Given the description of an element on the screen output the (x, y) to click on. 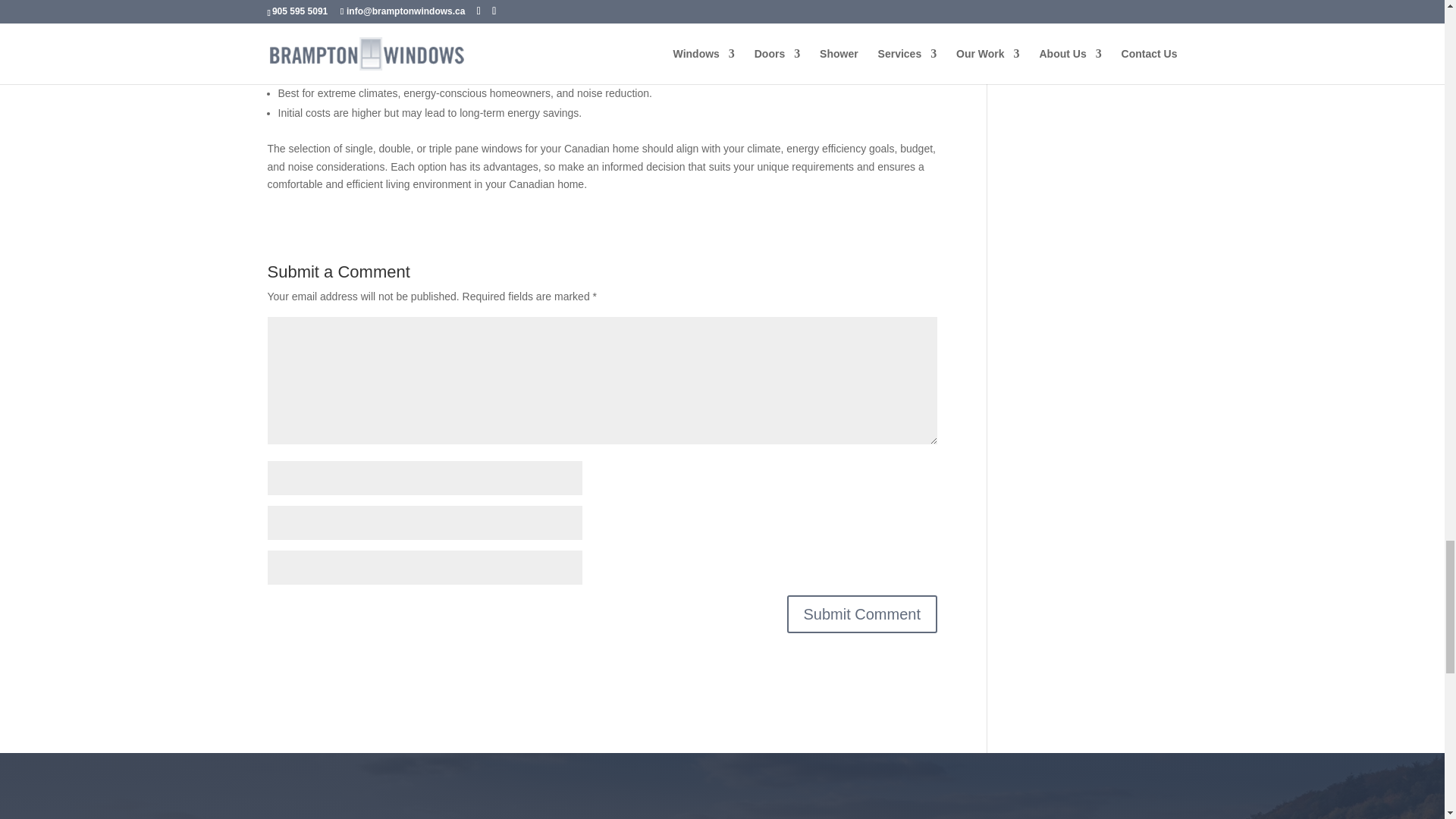
Submit Comment (862, 614)
